Given the description of an element on the screen output the (x, y) to click on. 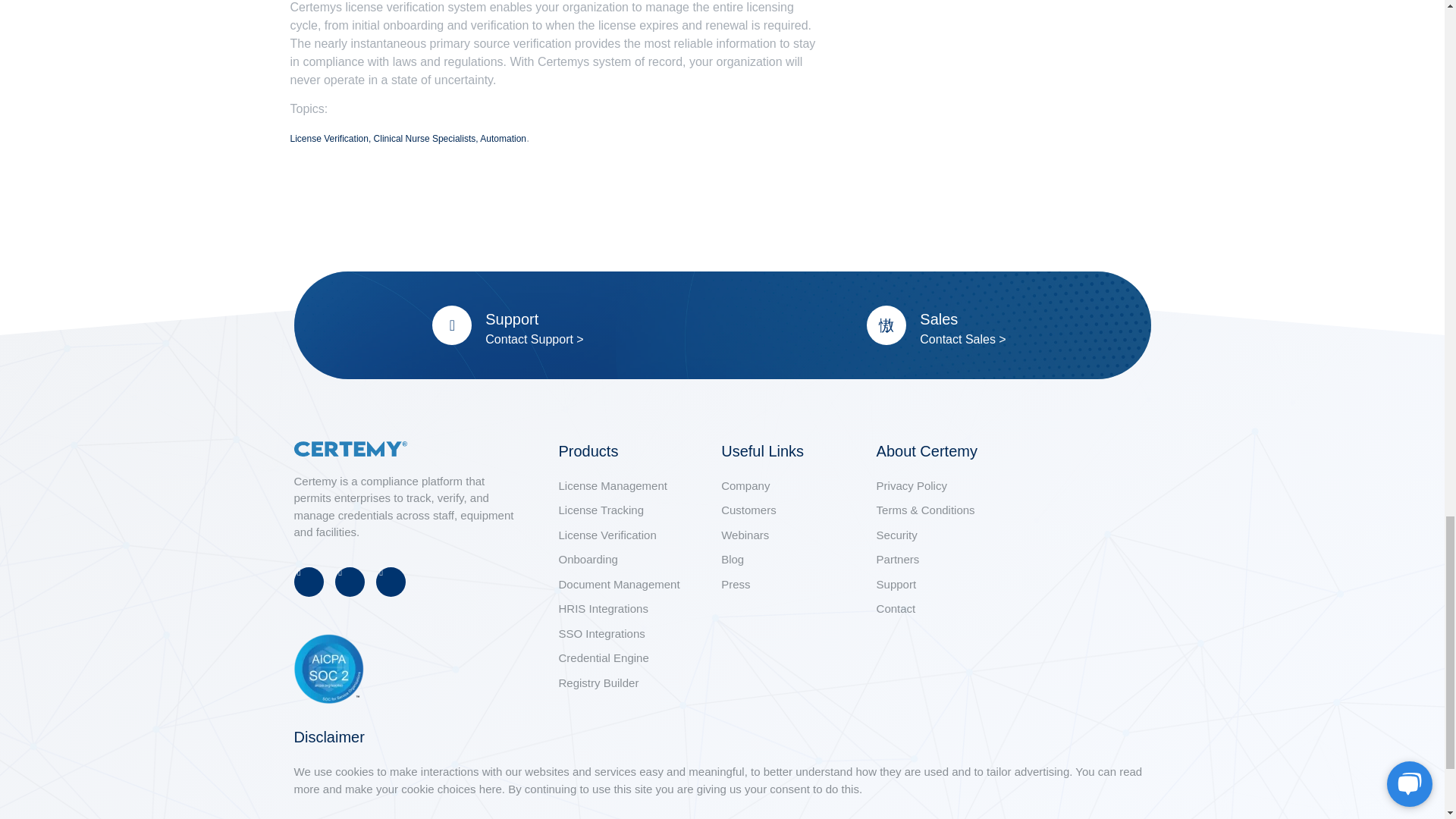
Support (511, 319)
